Given the description of an element on the screen output the (x, y) to click on. 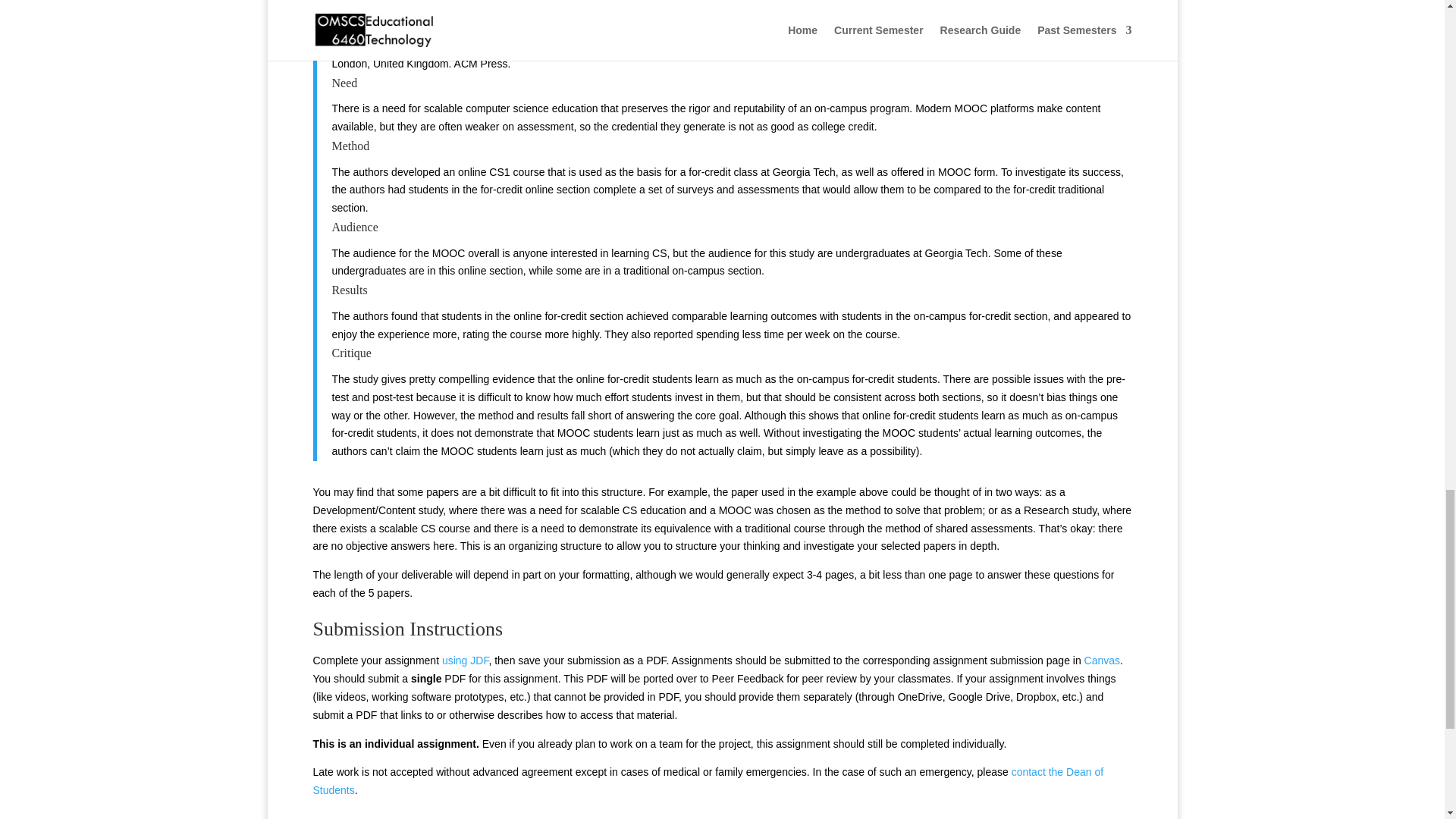
using JDF (464, 660)
